Given the description of an element on the screen output the (x, y) to click on. 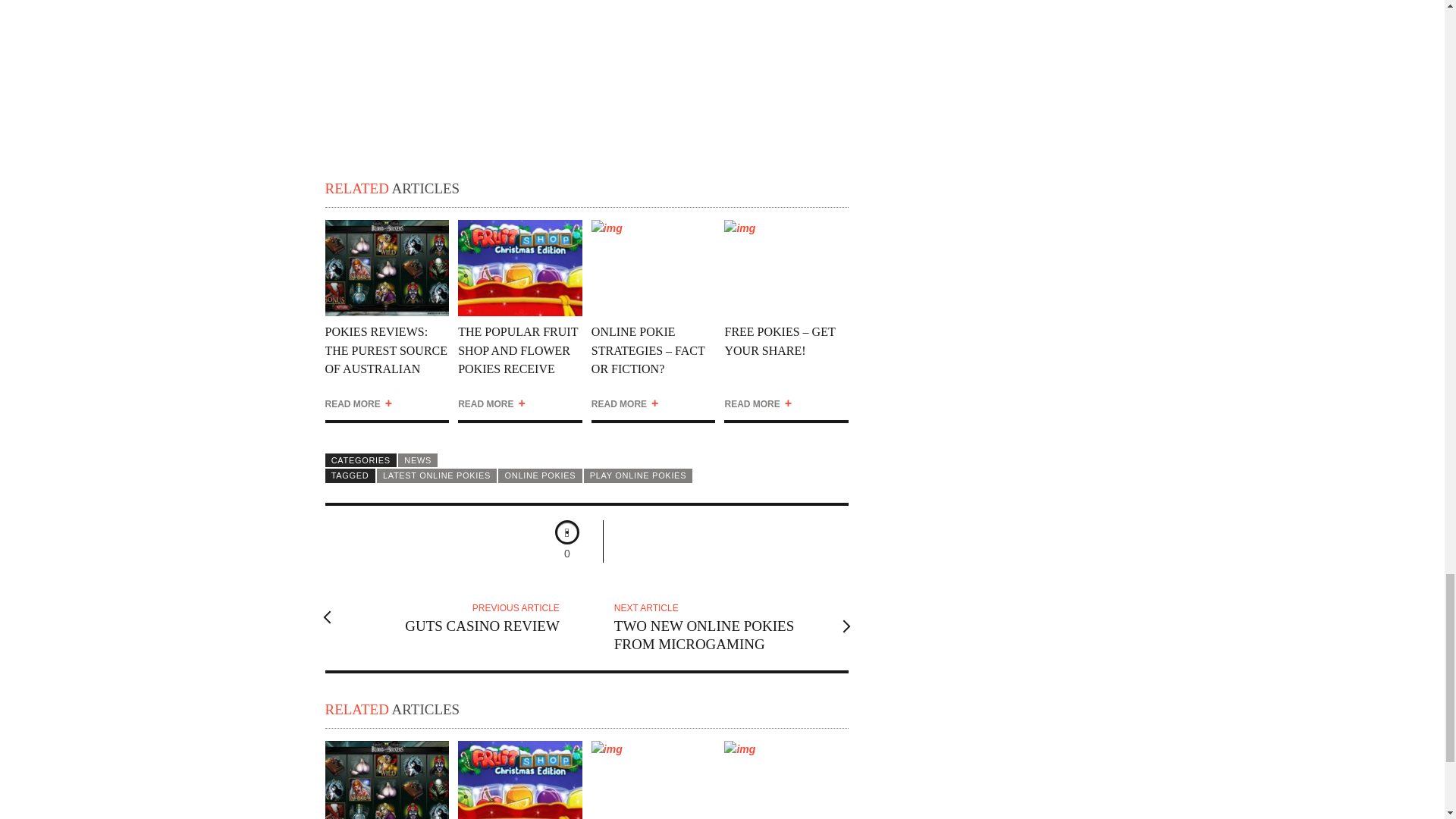
View all posts tagged latest online pokies (437, 475)
NEWS (417, 459)
View all posts in News (417, 459)
ONLINE POKIES (538, 475)
PLAY ONLINE POKIES (721, 625)
LATEST ONLINE POKIES (638, 475)
View all posts tagged online pokies (437, 475)
View all posts tagged play online pokies (538, 475)
